Given the description of an element on the screen output the (x, y) to click on. 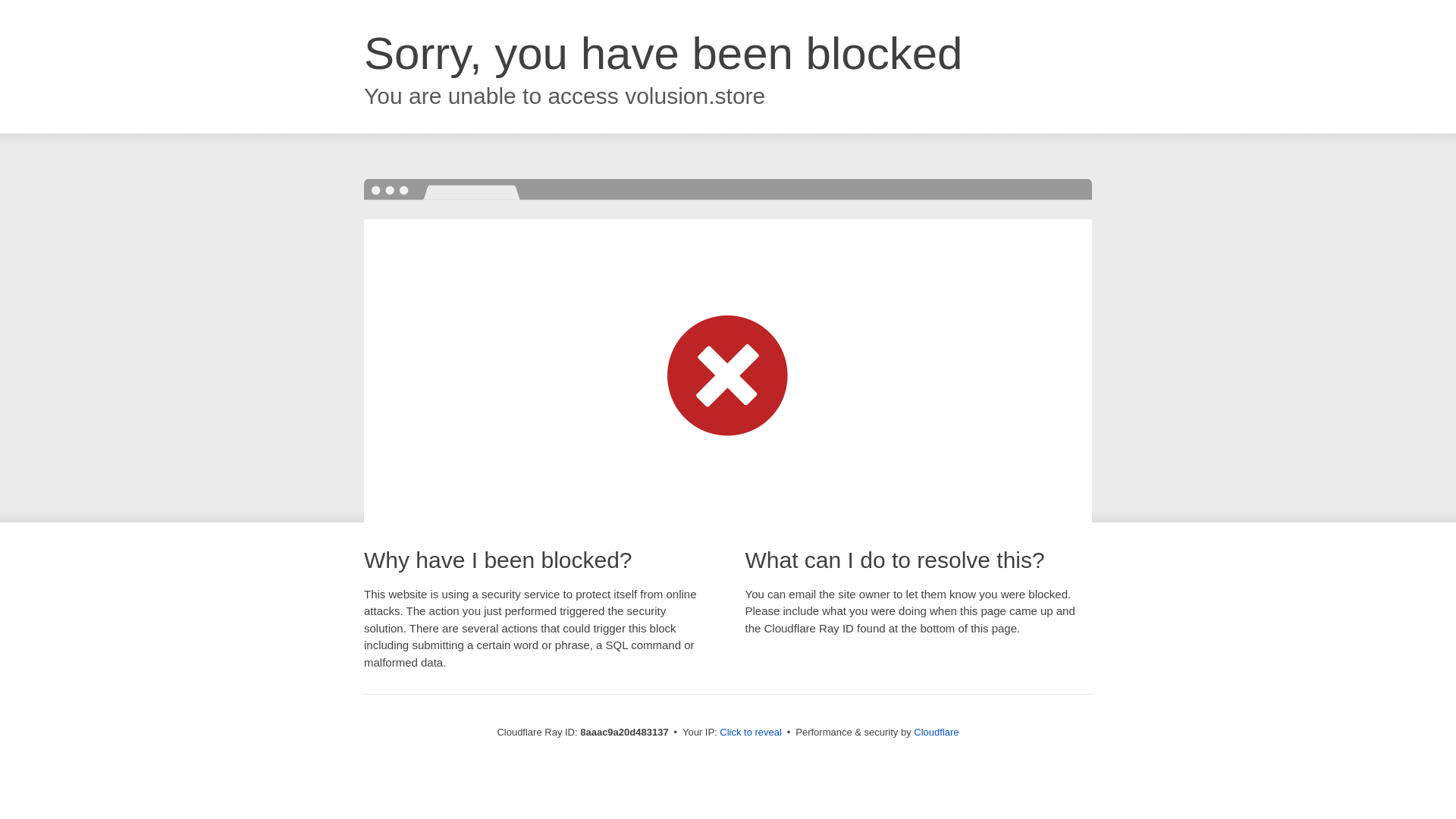
Cloudflare (936, 731)
Click to reveal (750, 732)
